Given the description of an element on the screen output the (x, y) to click on. 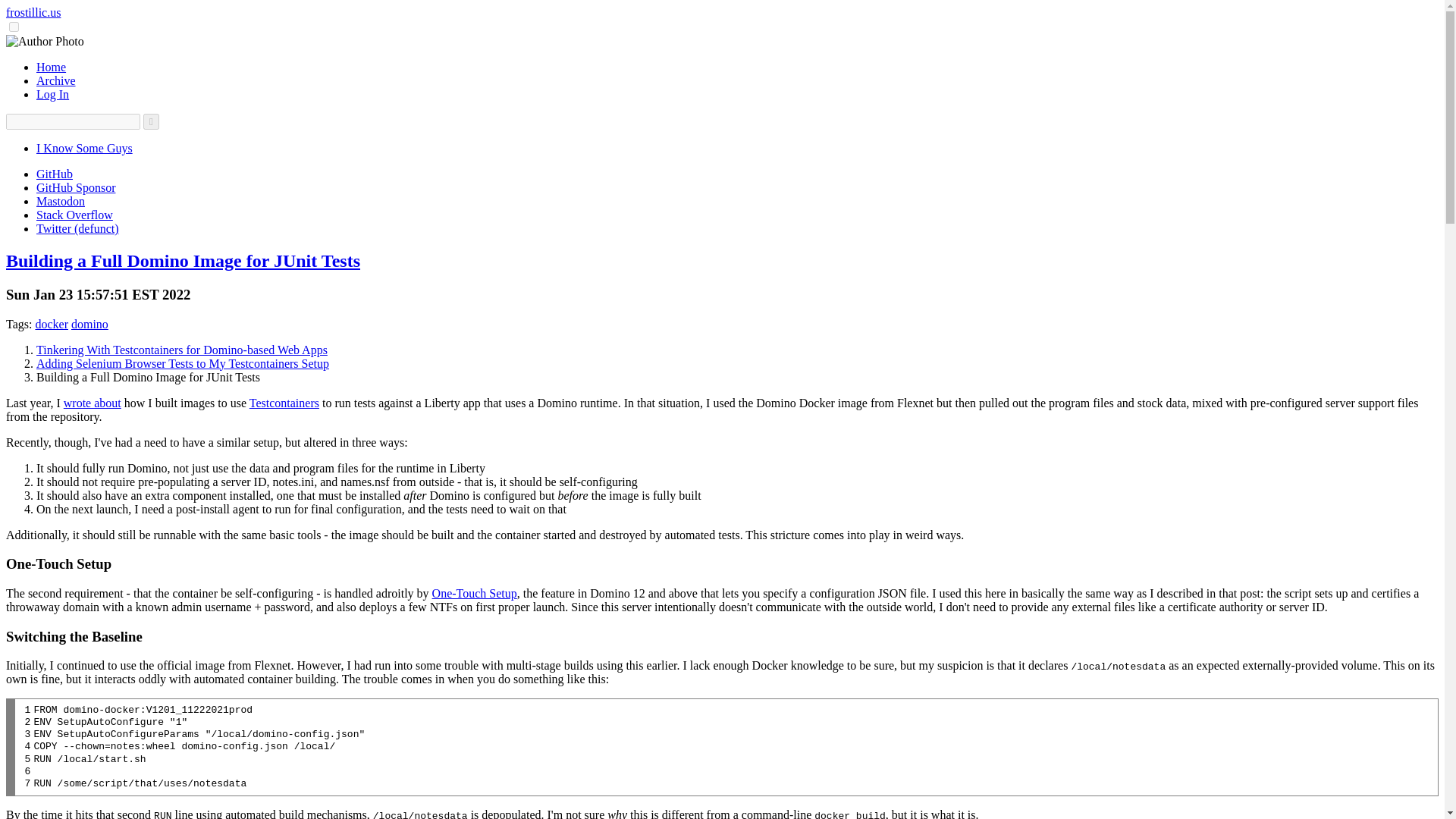
One-Touch Setup (474, 593)
Home (50, 66)
Tinkering With Testcontainers for Domino-based Web Apps (181, 349)
docker (51, 323)
I Know Some Guys (84, 147)
on (13, 26)
GitHub Sponsor (75, 187)
Adding Selenium Browser Tests to My Testcontainers Setup (182, 363)
frostillic.us (33, 11)
Archive (55, 80)
